Given the description of an element on the screen output the (x, y) to click on. 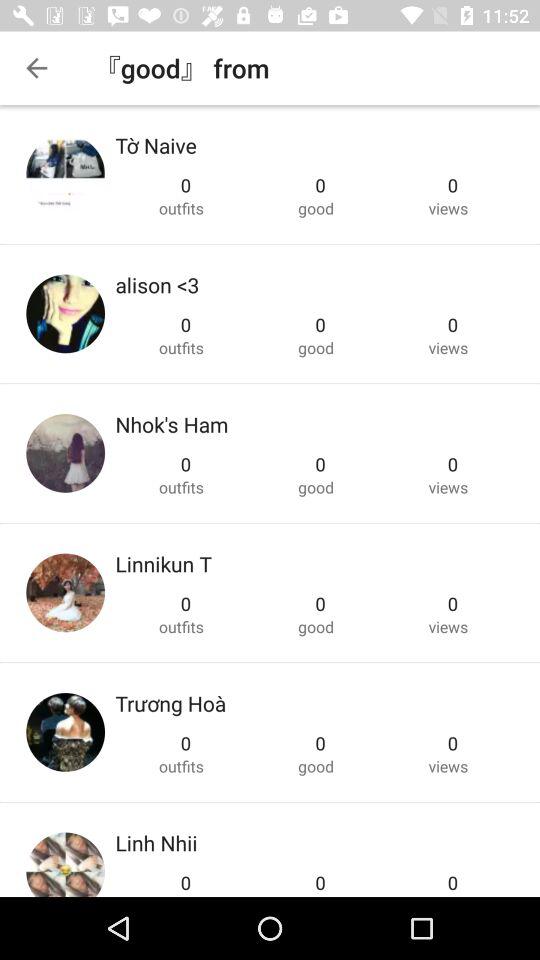
choose the item above the   0 item (171, 424)
